Given the description of an element on the screen output the (x, y) to click on. 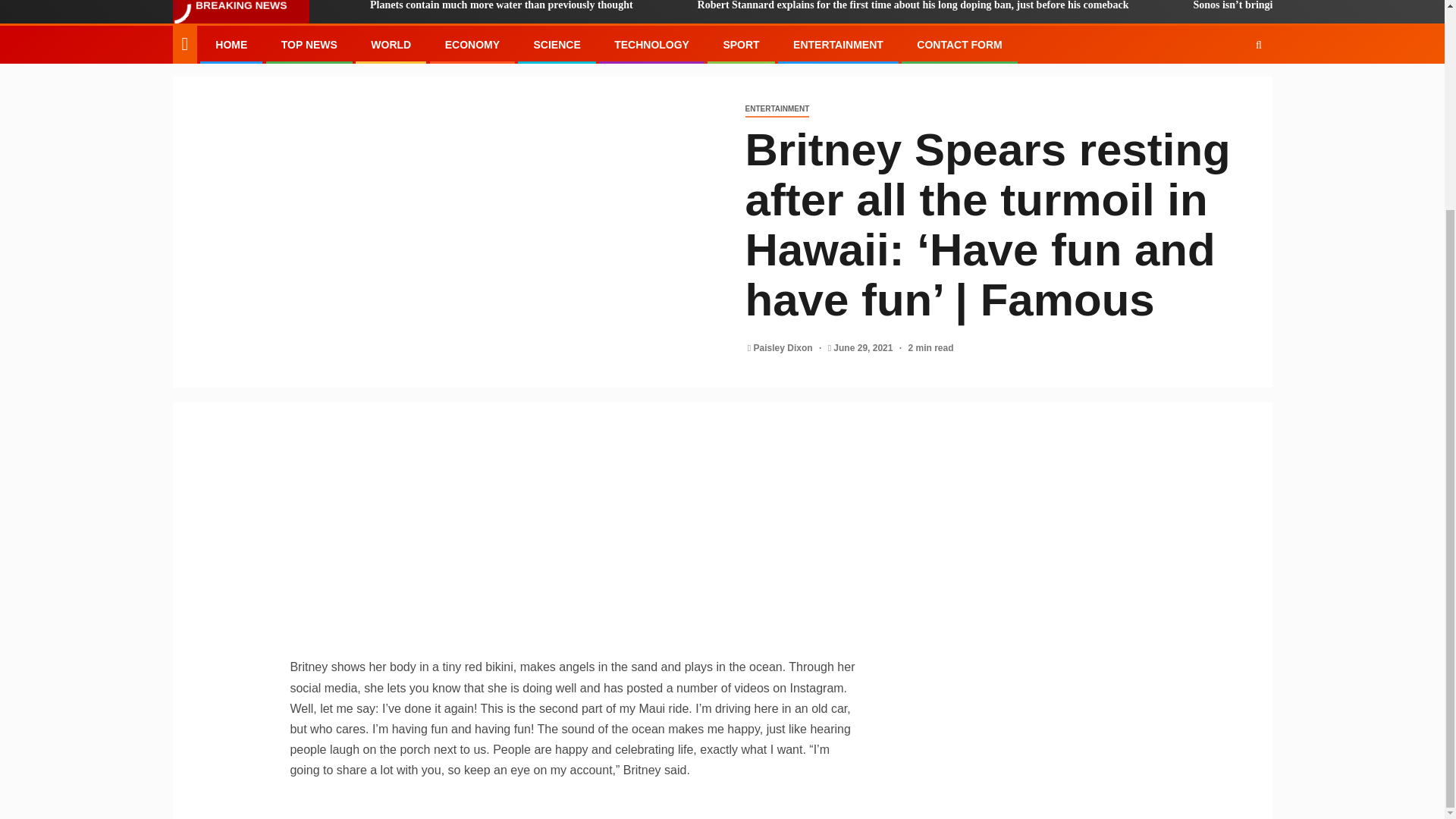
Paisley Dixon (784, 347)
SPORT (740, 44)
ECONOMY (472, 44)
TOP NEWS (309, 44)
WORLD (390, 44)
ENTERTAINMENT (776, 109)
Search (1229, 90)
HOME (231, 44)
TECHNOLOGY (651, 44)
Planets contain much more water than previously thought (481, 10)
